Given the description of an element on the screen output the (x, y) to click on. 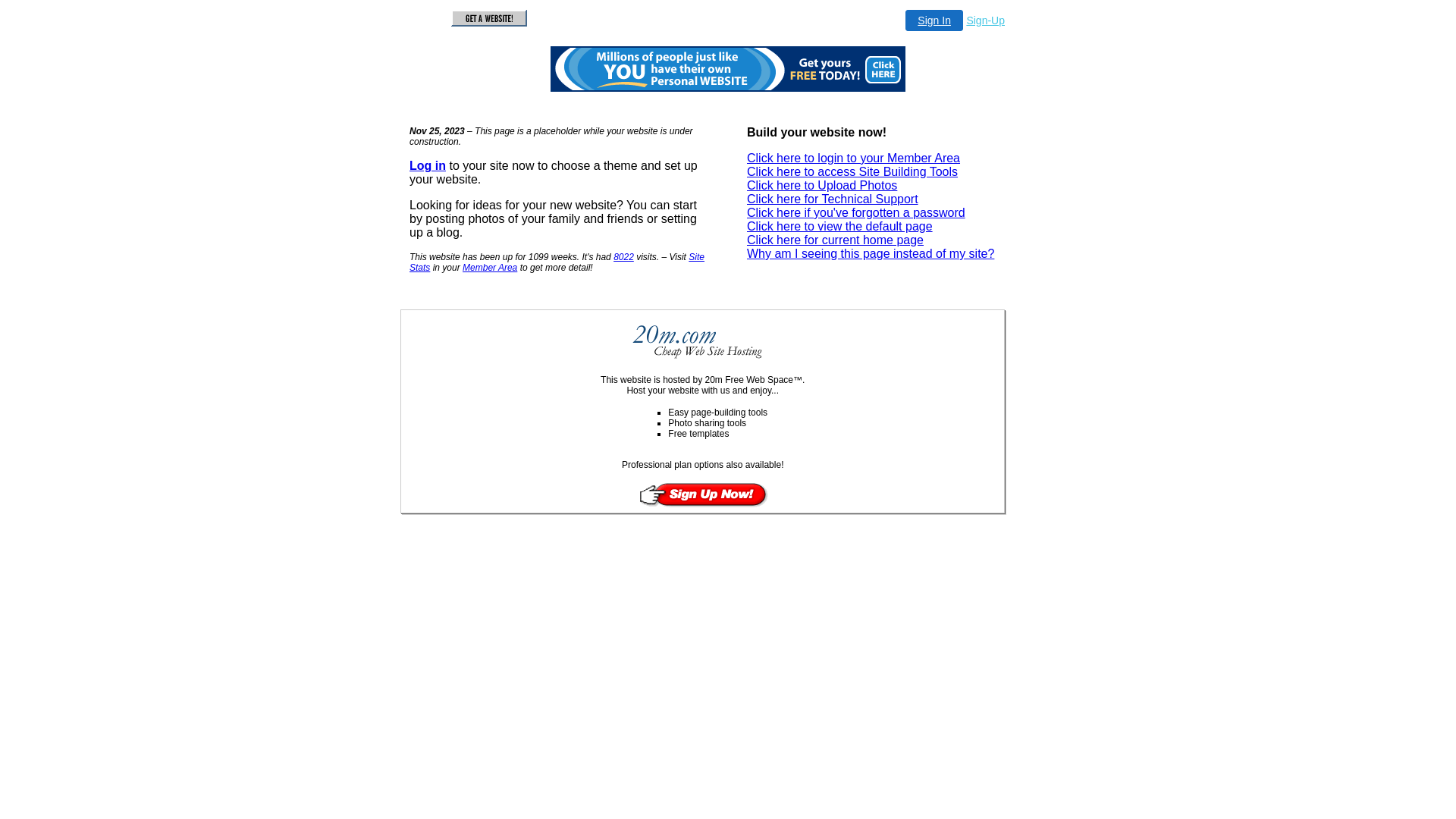
8022 Element type: text (623, 256)
Click here for Technical Support Element type: text (832, 198)
Site Stats Element type: text (556, 262)
Sign In Element type: text (934, 20)
Click here if you've forgotten a password Element type: text (855, 212)
Log in Element type: text (427, 165)
Click here for current home page Element type: text (834, 239)
Click here to Upload Photos Element type: text (821, 184)
Member Area Element type: text (489, 267)
Click here to view the default page Element type: text (839, 225)
Sign-Up Element type: text (985, 20)
Click here to login to your Member Area Element type: text (853, 157)
Why am I seeing this page instead of my site? Element type: text (870, 253)
Click here to access Site Building Tools Element type: text (851, 171)
